Given the description of an element on the screen output the (x, y) to click on. 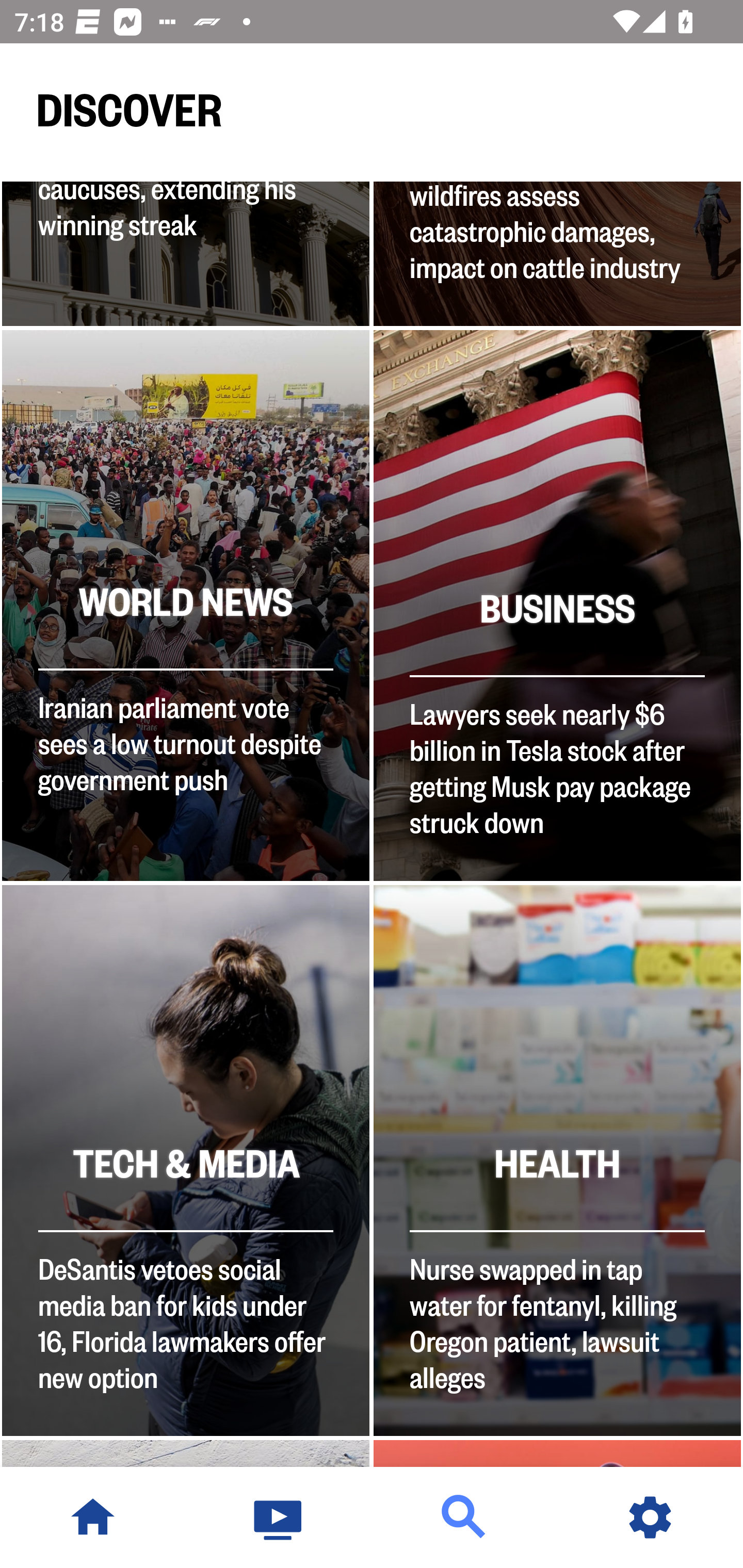
NBC News Home (92, 1517)
Watch (278, 1517)
Settings (650, 1517)
